Given the description of an element on the screen output the (x, y) to click on. 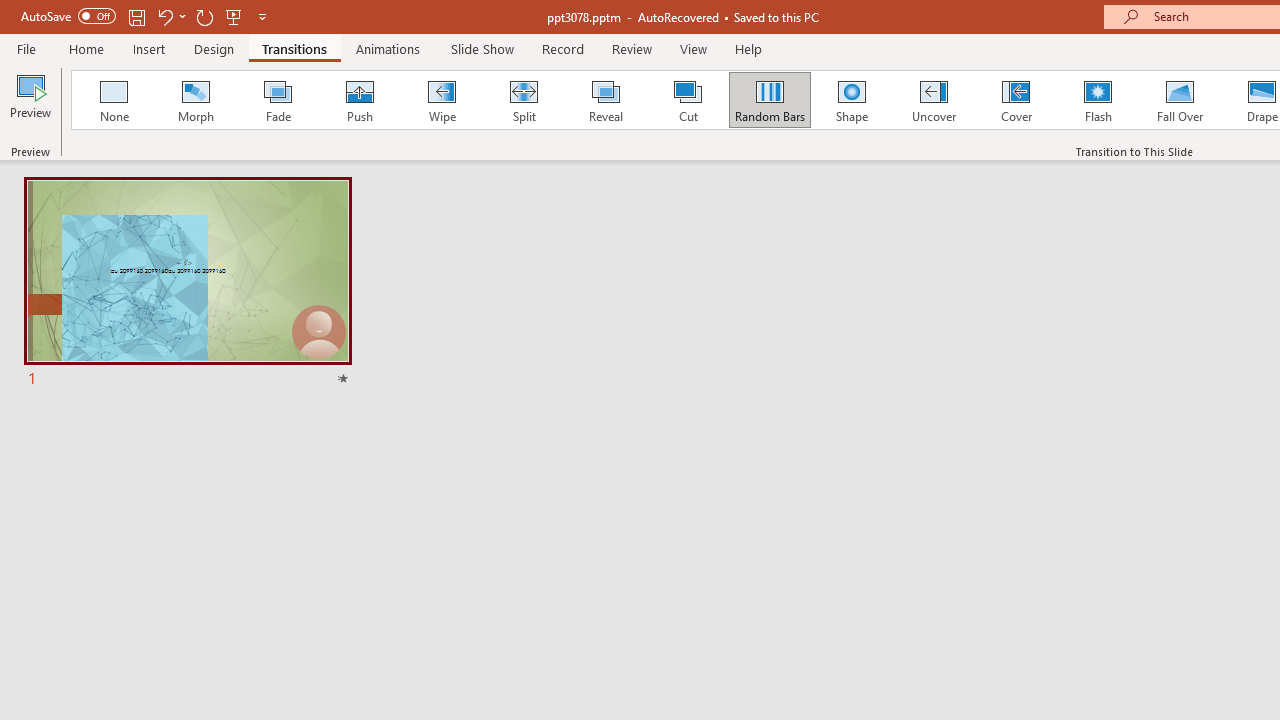
Flash (1098, 100)
Push (359, 100)
Fall Over (1180, 100)
